Given the description of an element on the screen output the (x, y) to click on. 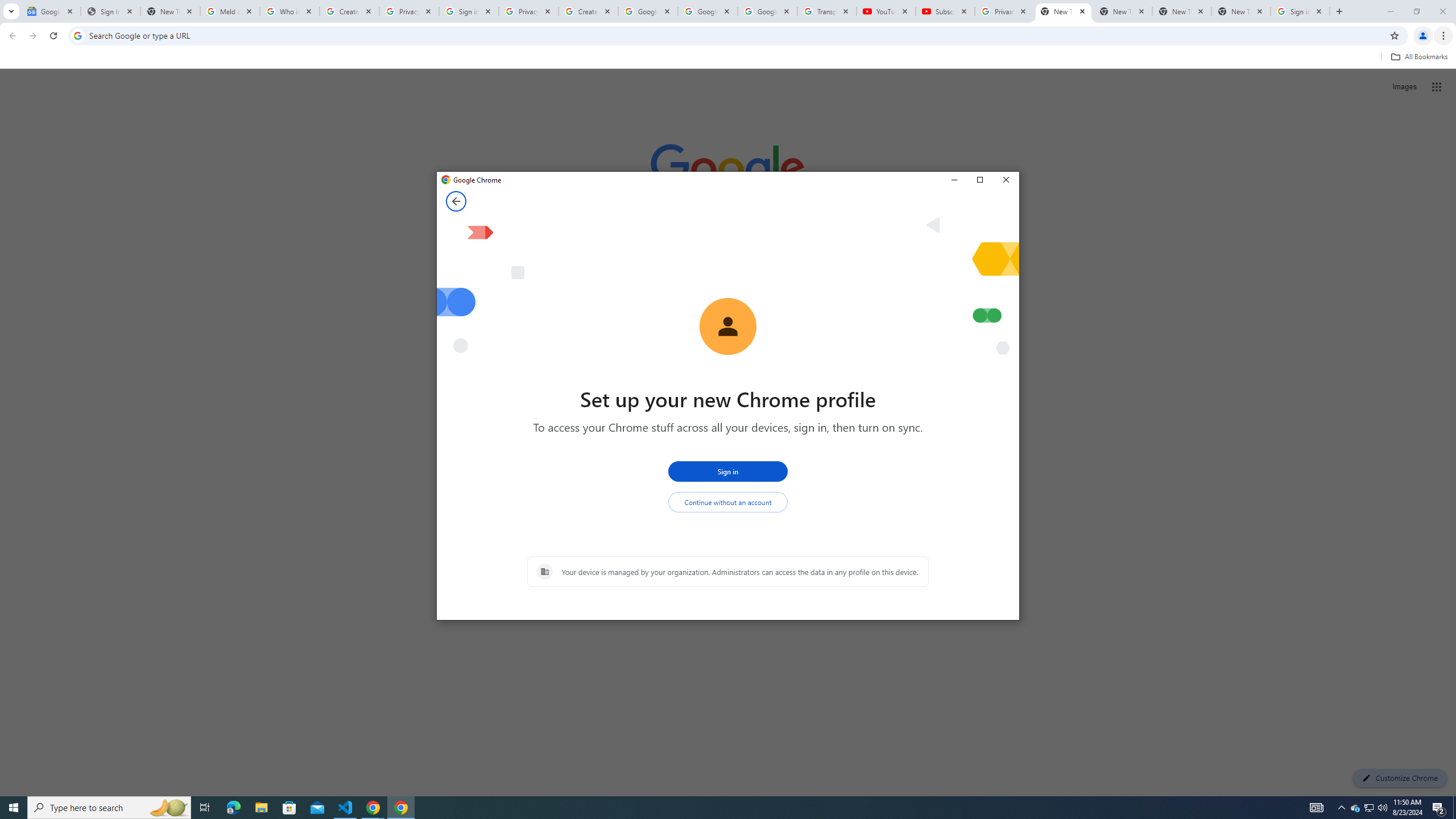
Continue without an account (727, 502)
Visual Studio Code - 1 running window (345, 807)
Google News (50, 11)
Sign in - Google Accounts (1300, 11)
Google Chrome - 1 running window (400, 807)
YouTube (885, 11)
Who is my administrator? - Google Account Help (289, 11)
Create your Google Account (349, 11)
Sign In - USA TODAY (110, 11)
Search highlights icon opens search home window (167, 807)
